Given the description of an element on the screen output the (x, y) to click on. 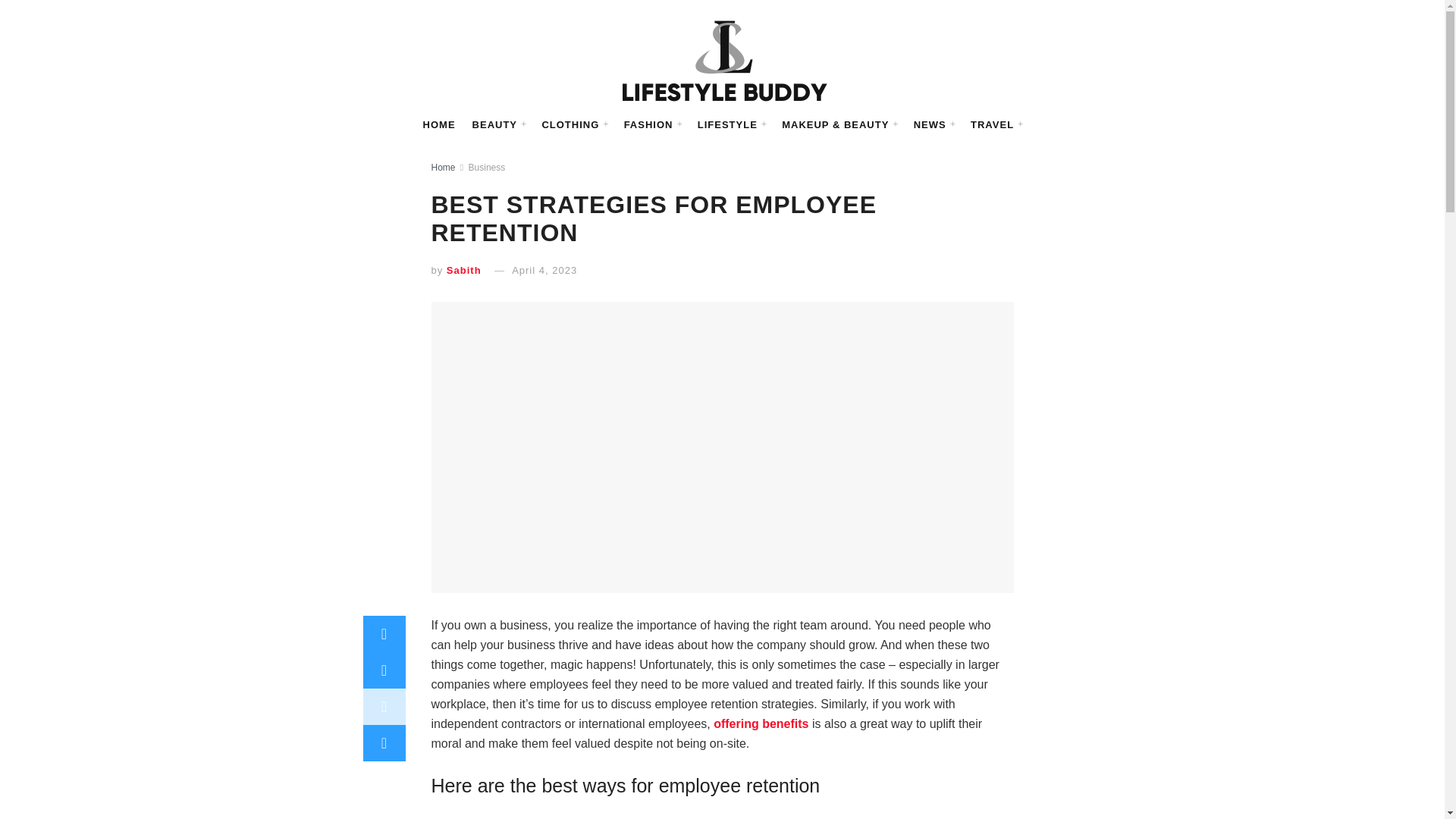
FASHION (659, 125)
BEAUTY (521, 125)
LIFESTYLE (731, 125)
CLOTHING (589, 125)
